Given the description of an element on the screen output the (x, y) to click on. 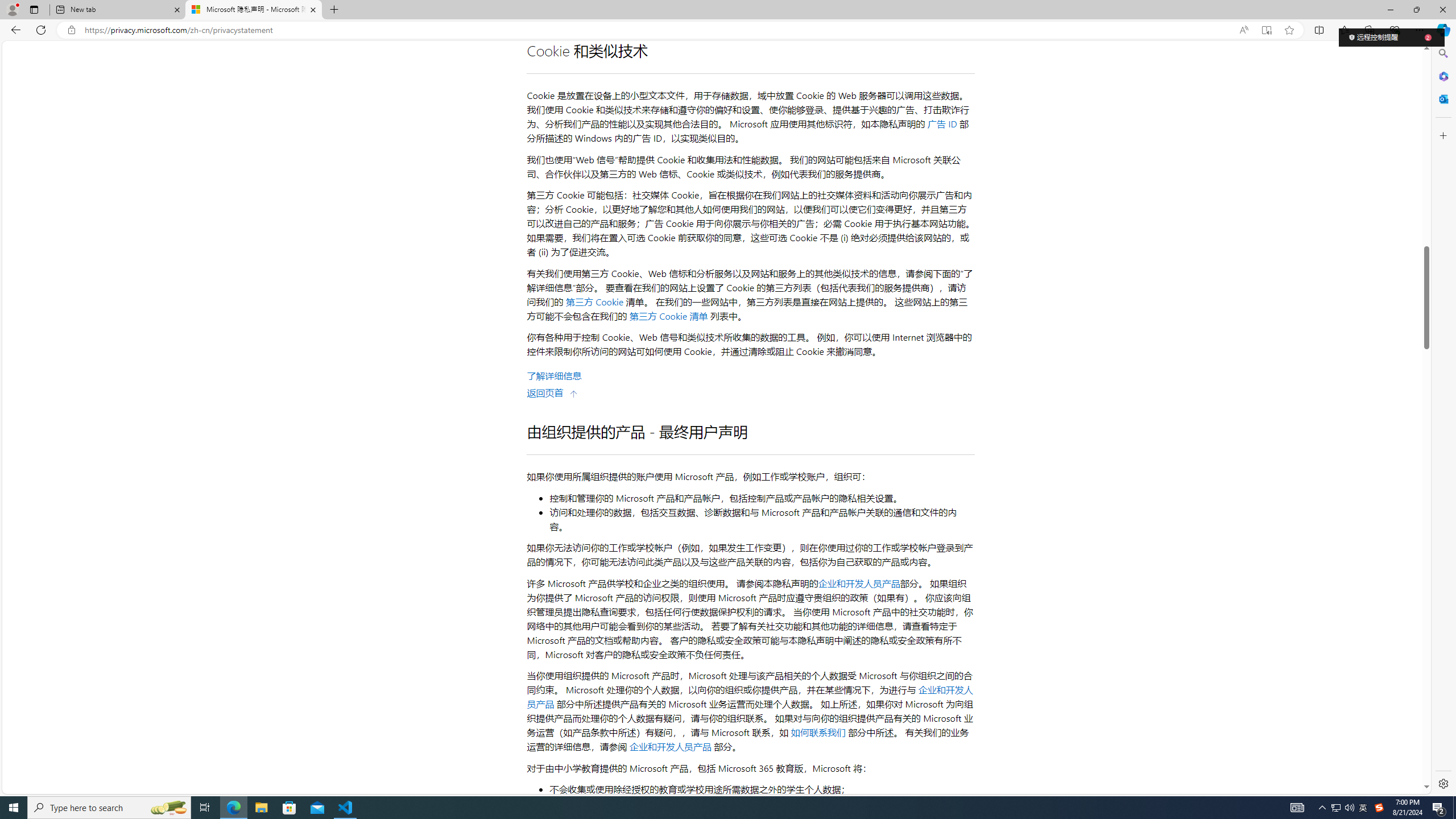
Enter Immersive Reader (F9) (1266, 29)
Outlook (1442, 98)
Side bar (1443, 418)
